Given the description of an element on the screen output the (x, y) to click on. 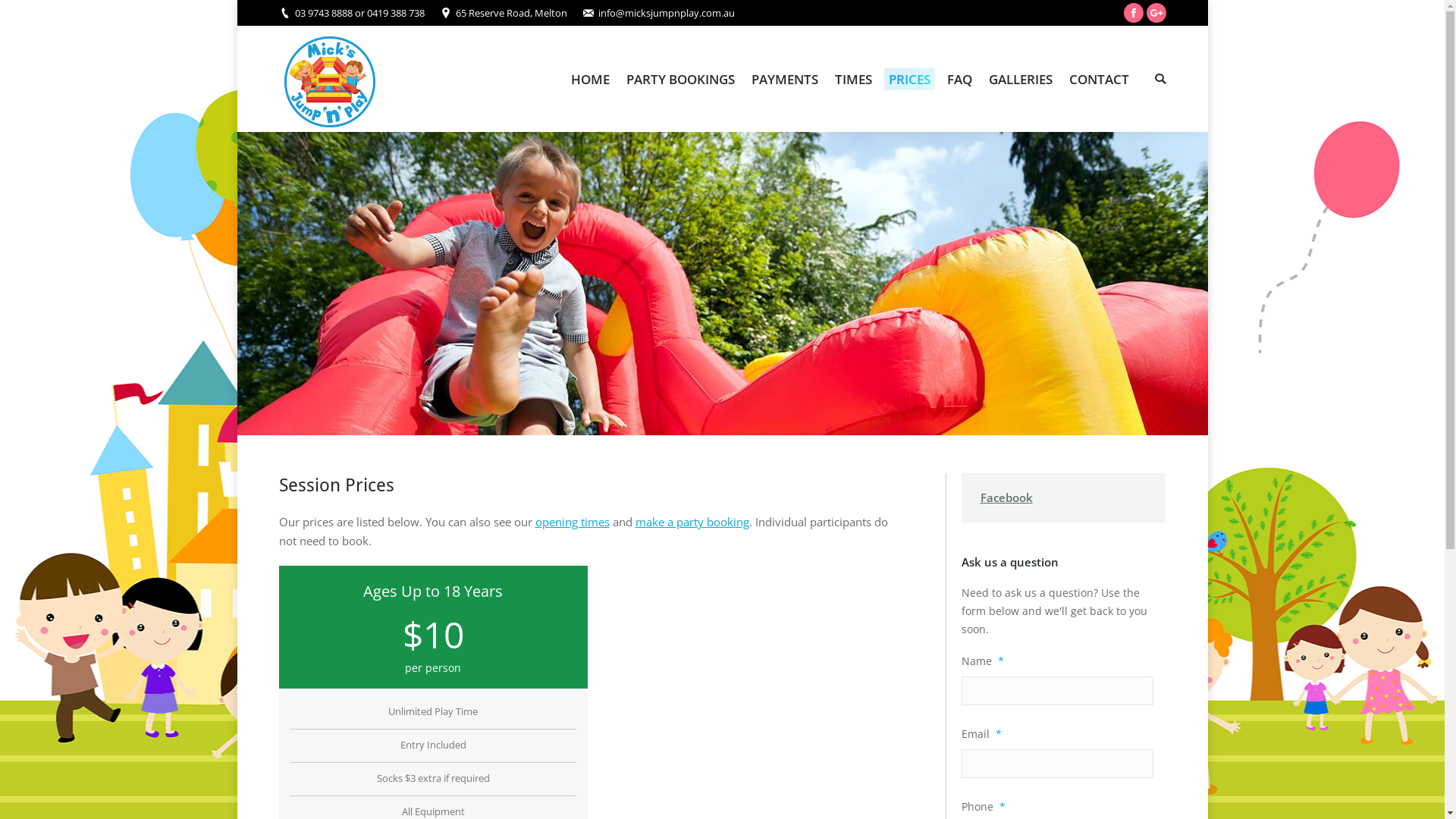
opening times Element type: text (572, 521)
PAYMENTS Element type: text (784, 79)
HOME Element type: text (589, 79)
CONTACT Element type: text (1098, 79)
PRICES Element type: text (909, 79)
make a party booking Element type: text (692, 521)
GALLERIES Element type: text (1020, 79)
PARTY BOOKINGS Element type: text (680, 79)
info@micksjumpnplay.com.au Element type: text (665, 13)
Go! Element type: text (22, 14)
Facebook Element type: text (1006, 497)
Facebook Element type: text (1133, 12)
Google+ Element type: text (1156, 12)
TIMES Element type: text (852, 79)
FAQ Element type: text (958, 79)
